Given the description of an element on the screen output the (x, y) to click on. 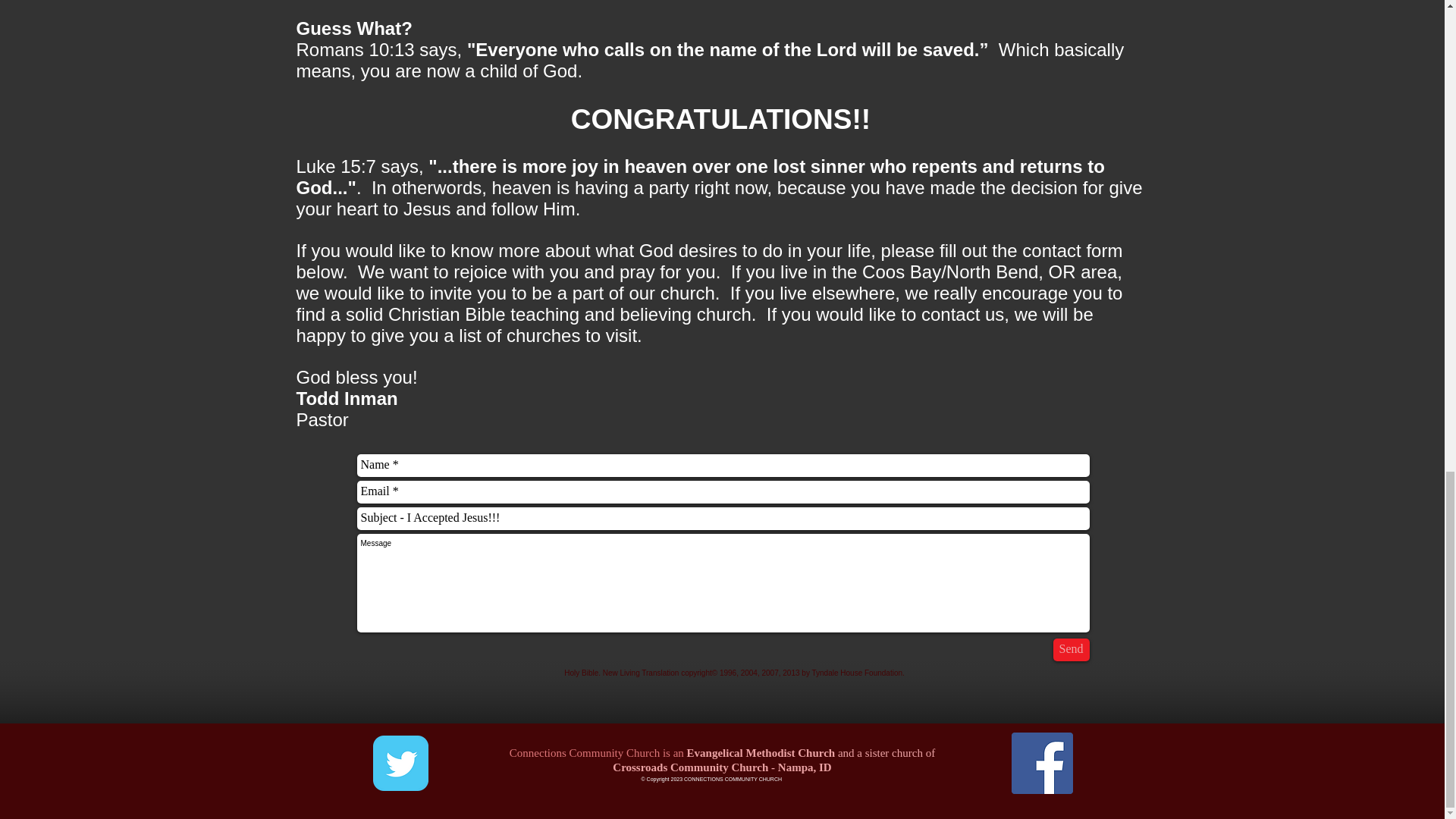
Evangelical Methodist Church (761, 752)
Send (1070, 649)
Crossroads Community Church - Nampa, ID (721, 767)
